Given the description of an element on the screen output the (x, y) to click on. 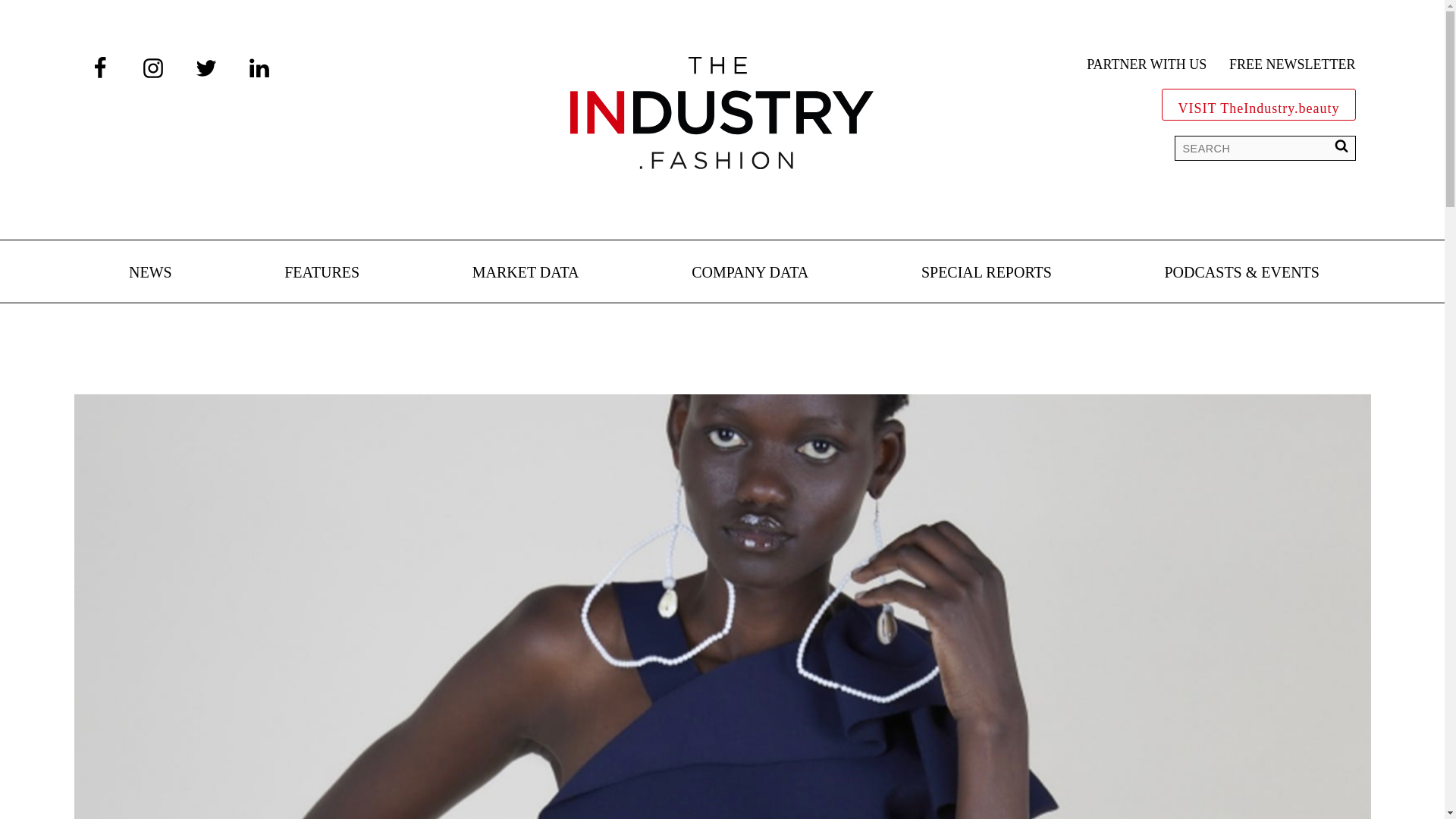
PARTNER WITH US (1146, 64)
FREE NEWSLETTER (1291, 64)
NEWS (150, 273)
MARKET DATA (525, 273)
Go (22, 15)
VISIT TheIndustry.beauty (1258, 104)
COMPANY DATA (749, 273)
FEATURES (321, 273)
SPECIAL REPORTS (986, 273)
